Given the description of an element on the screen output the (x, y) to click on. 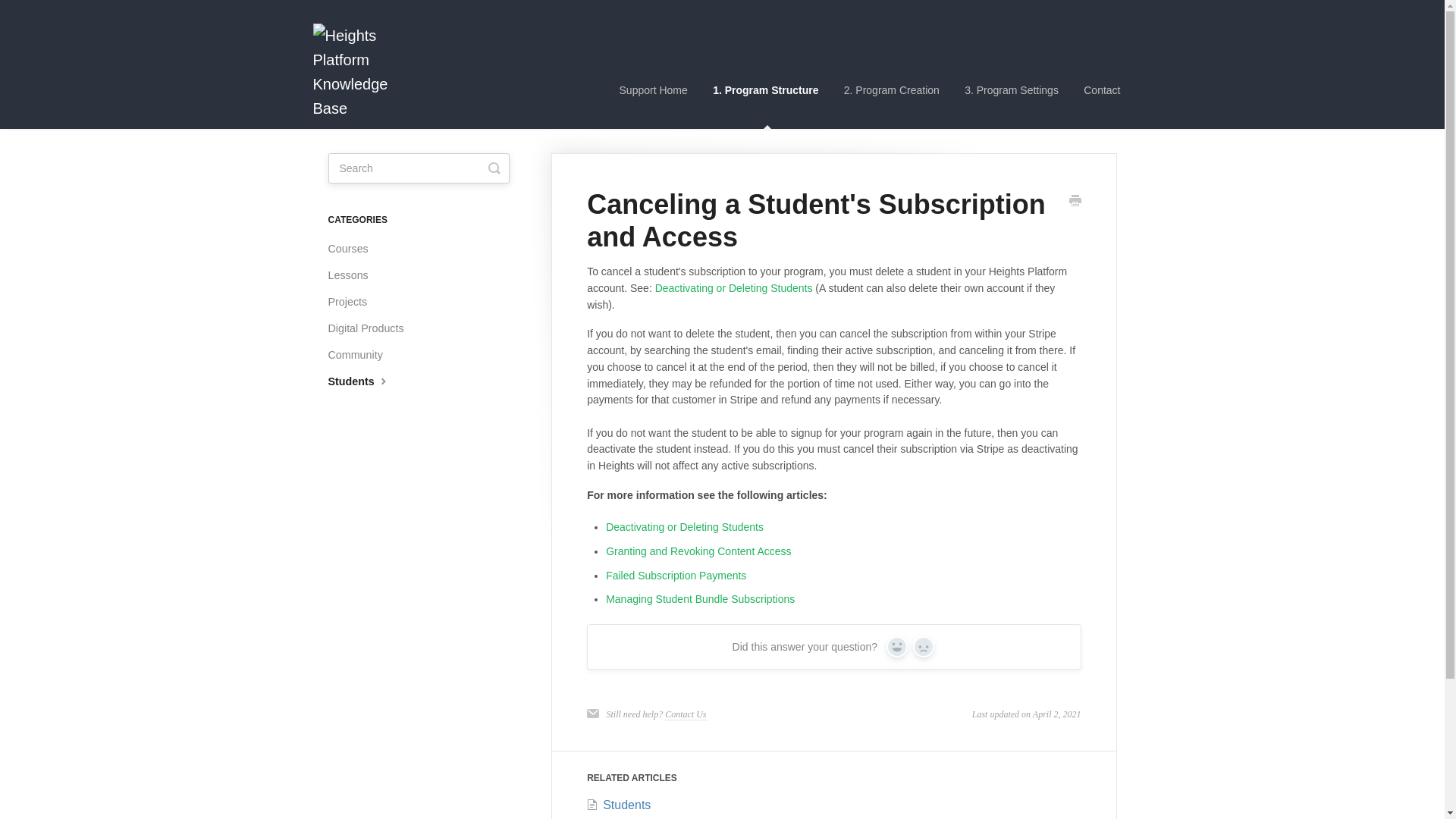
Courses (352, 248)
Contact Us (685, 714)
Lessons (352, 274)
Deactivating or Deleting Students (683, 526)
Digital Products (370, 328)
search-query (418, 168)
Managing Student Bundle Subscriptions (699, 598)
Students (618, 804)
Granting and Revoking Content Access (697, 551)
Deactivating or Deleting Students (733, 287)
